Given the description of an element on the screen output the (x, y) to click on. 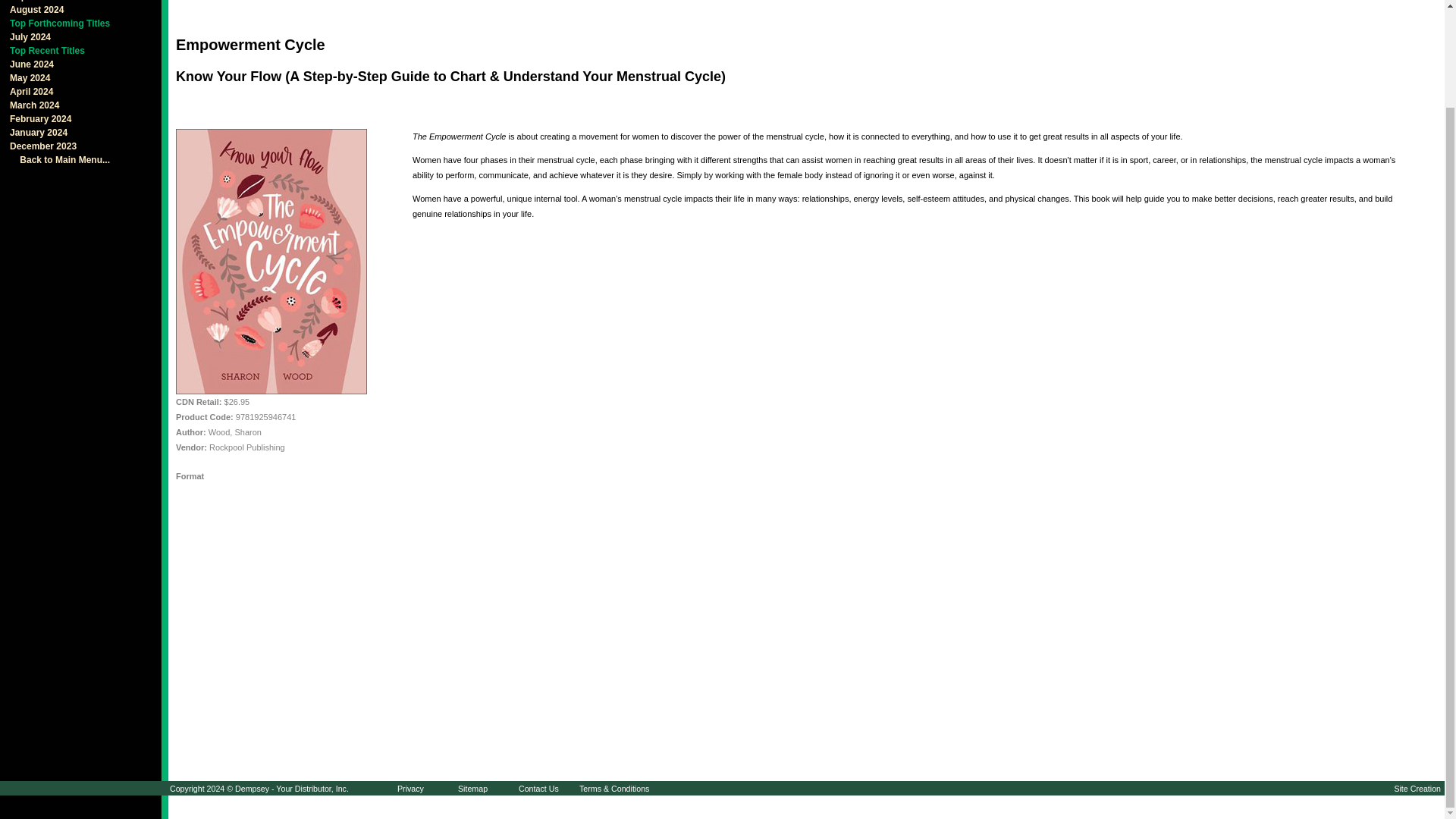
April 2024 (27, 91)
January 2024 (34, 132)
February 2024 (36, 118)
    Back to Main Menu... (56, 159)
Top Forthcoming Titles (56, 23)
Top Recent Titles (43, 50)
May 2024 (25, 77)
Contact Us (538, 788)
Site Creation (1417, 788)
August 2024 (33, 9)
June 2024 (27, 63)
September 2024 (41, 0)
March 2024 (30, 104)
December 2023 (39, 145)
July 2024 (26, 36)
